Given the description of an element on the screen output the (x, y) to click on. 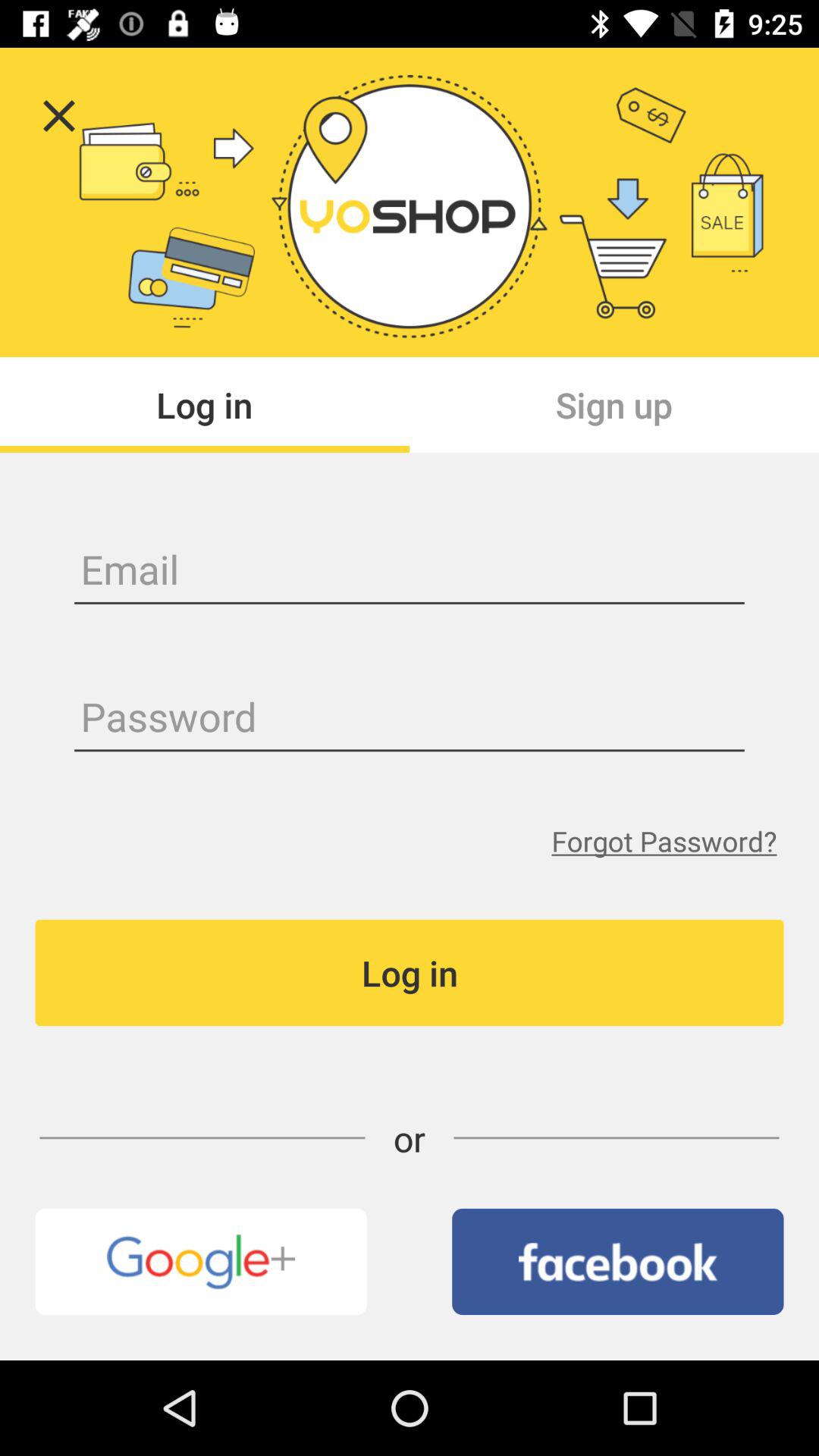
jump to the  forgot password?  item (663, 840)
